Given the description of an element on the screen output the (x, y) to click on. 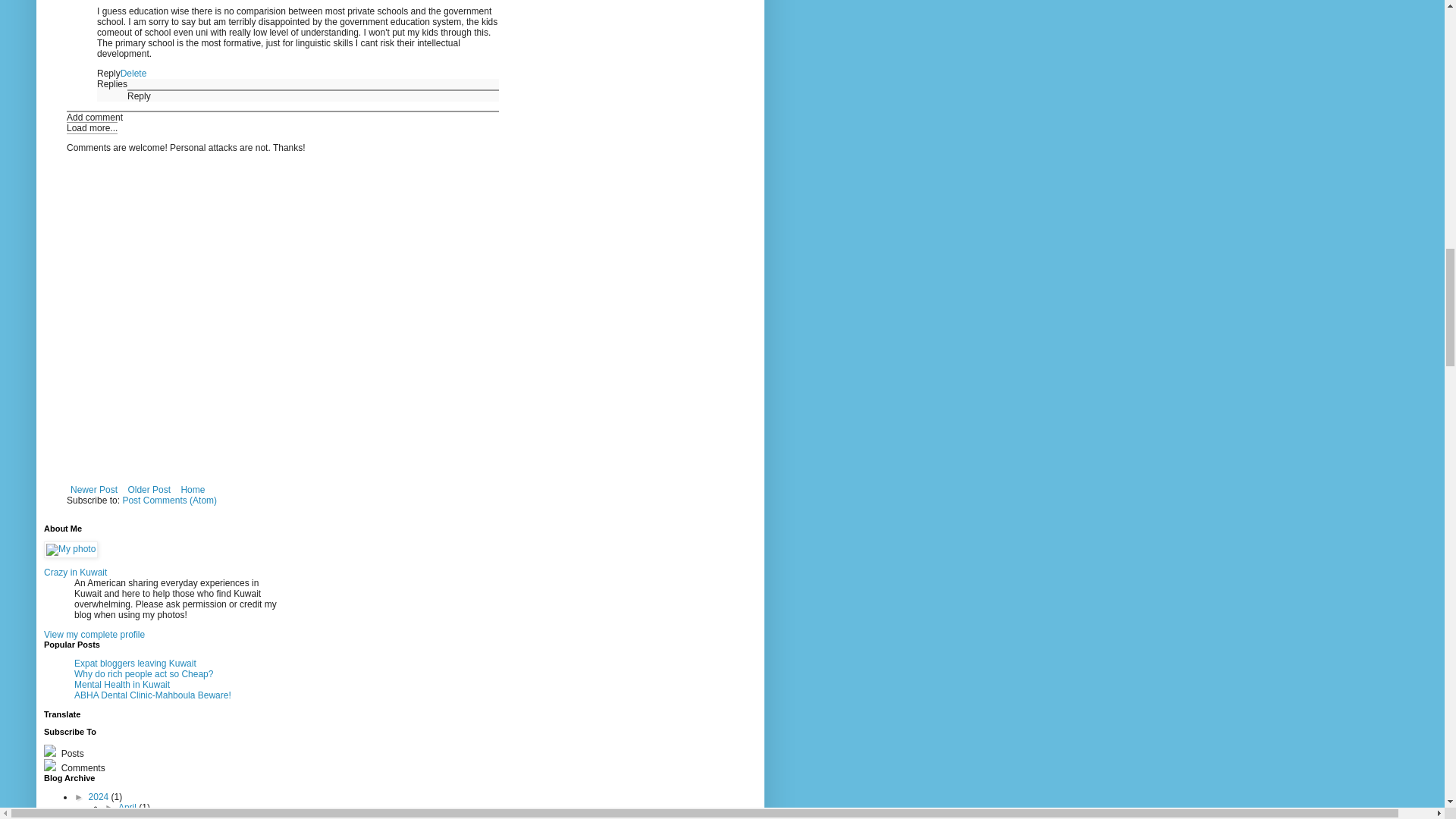
Newer Post (93, 489)
Replies (112, 83)
Older Post (148, 489)
Delete (133, 72)
Reply (139, 95)
Newer Post (93, 489)
Reply (108, 72)
Load more... (91, 128)
Add comment (94, 117)
